Given the description of an element on the screen output the (x, y) to click on. 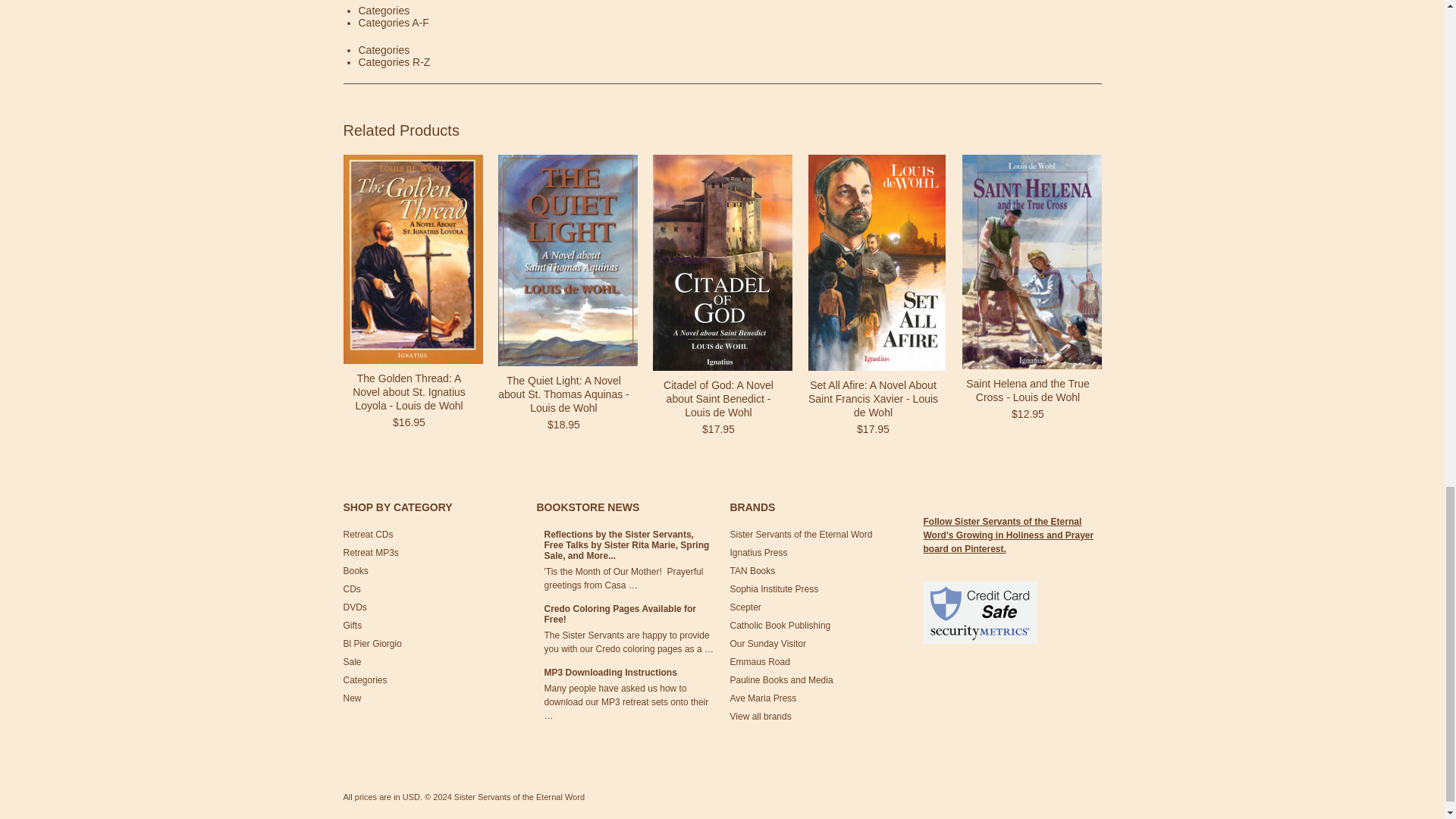
Default Currency (411, 796)
